Given the description of an element on the screen output the (x, y) to click on. 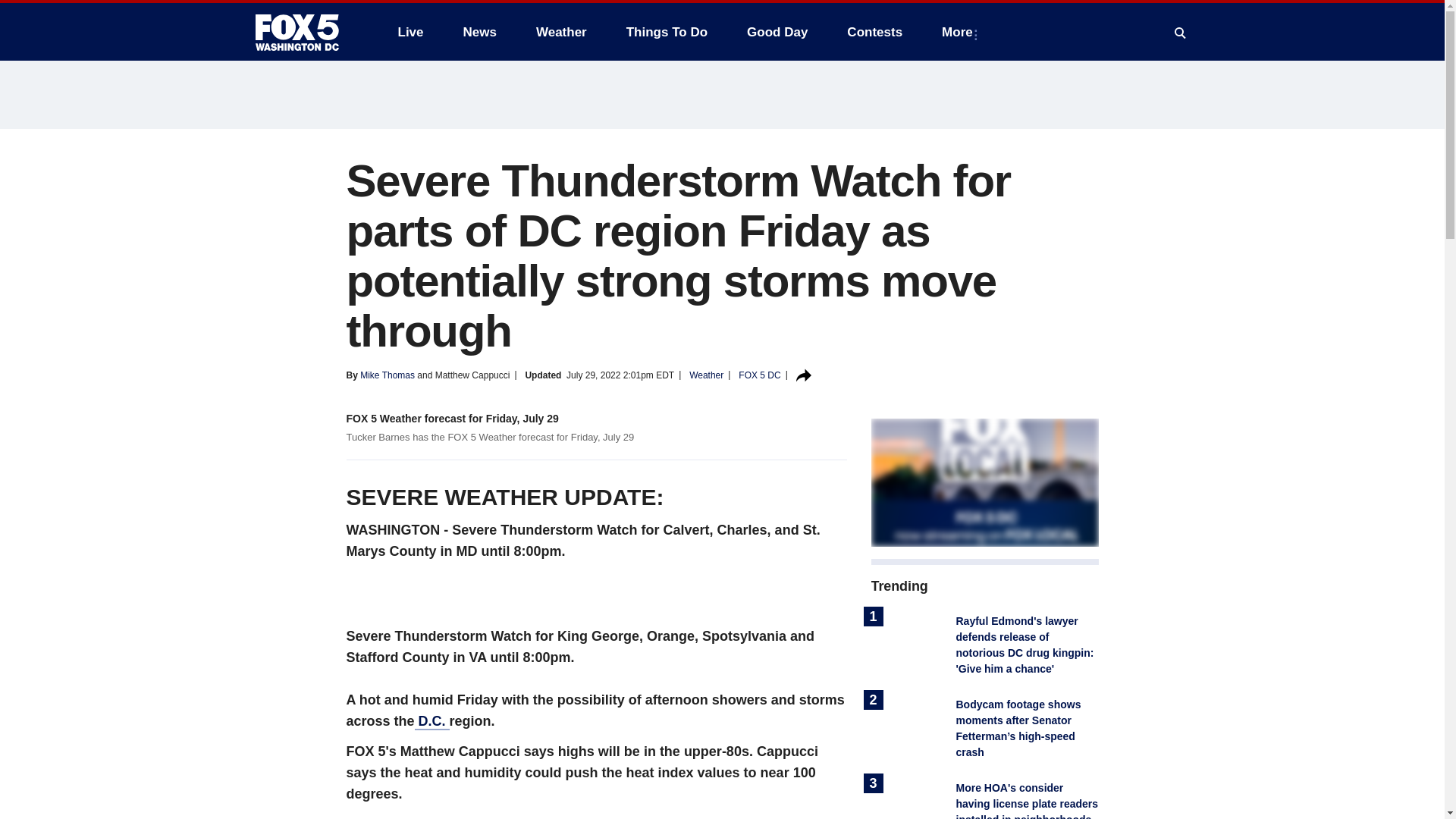
Weather (561, 32)
Things To Do (666, 32)
News (479, 32)
Contests (874, 32)
Live (410, 32)
More (960, 32)
Good Day (777, 32)
